Given the description of an element on the screen output the (x, y) to click on. 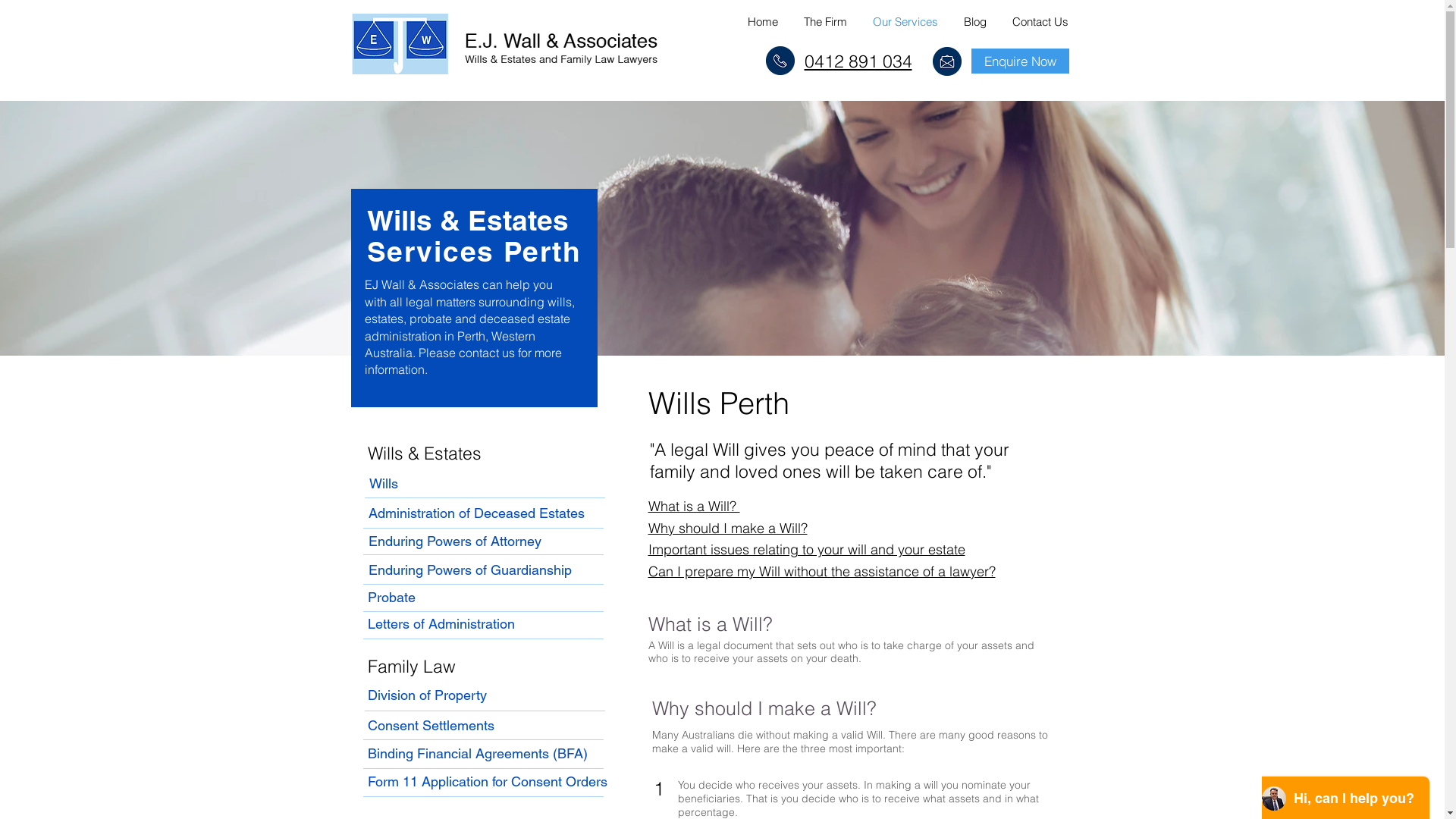
Binding Financial Agreements (BFA) Element type: text (477, 753)
0412 891 034 Element type: text (857, 61)
Wills Element type: text (382, 483)
Our Services Element type: text (898, 20)
Probate Element type: text (391, 597)
Contact Us Element type: text (1034, 20)
Letters of Administration Element type: text (440, 623)
What is a Will?  Element type: text (693, 505)
Blog Element type: text (968, 20)
Why should I make a Will? Element type: text (726, 527)
Can I prepare my Will without the assistance of a lawyer? Element type: text (820, 571)
Form 11 Application for Consent Orders Element type: text (487, 780)
Important issues relating to your will and your estate Element type: text (805, 549)
The Firm Element type: text (819, 20)
Administration of Deceased Estates Element type: text (476, 513)
Enduring Powers of Guardianship Element type: text (469, 570)
Enduring Powers of Attorney Element type: text (454, 541)
Consent Settlements Element type: text (429, 724)
Home Element type: text (757, 20)
Enquire Now Element type: text (1019, 60)
Division of Property Element type: text (426, 694)
EJ Wall & Associates - Family Lawyers Perth Element type: hover (504, 43)
